Given the description of an element on the screen output the (x, y) to click on. 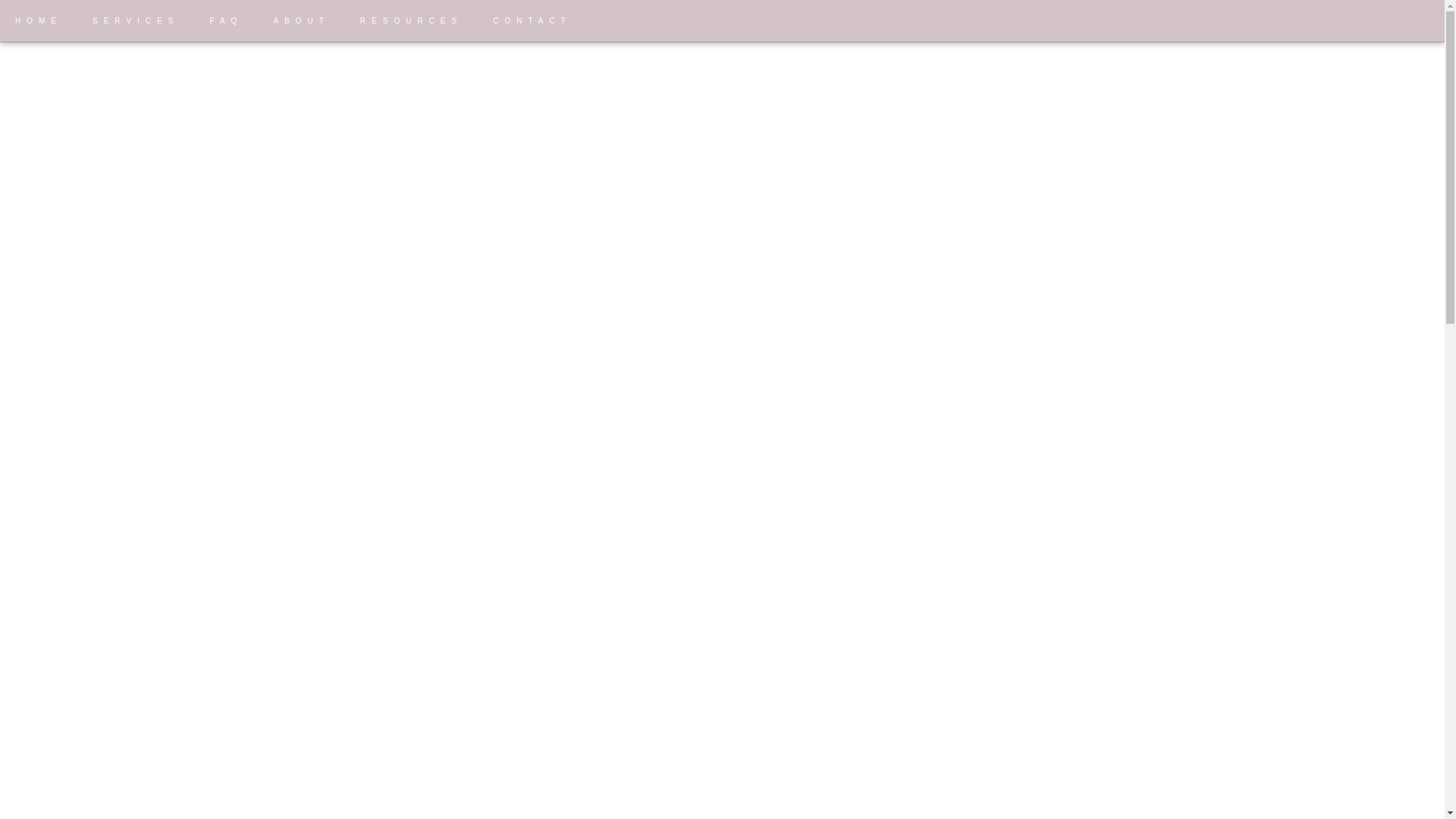
FAQ (225, 20)
ABOUT (300, 20)
SERVICES (135, 20)
RESOURCES (411, 20)
CONTACT (531, 20)
HOME (38, 20)
